Given the description of an element on the screen output the (x, y) to click on. 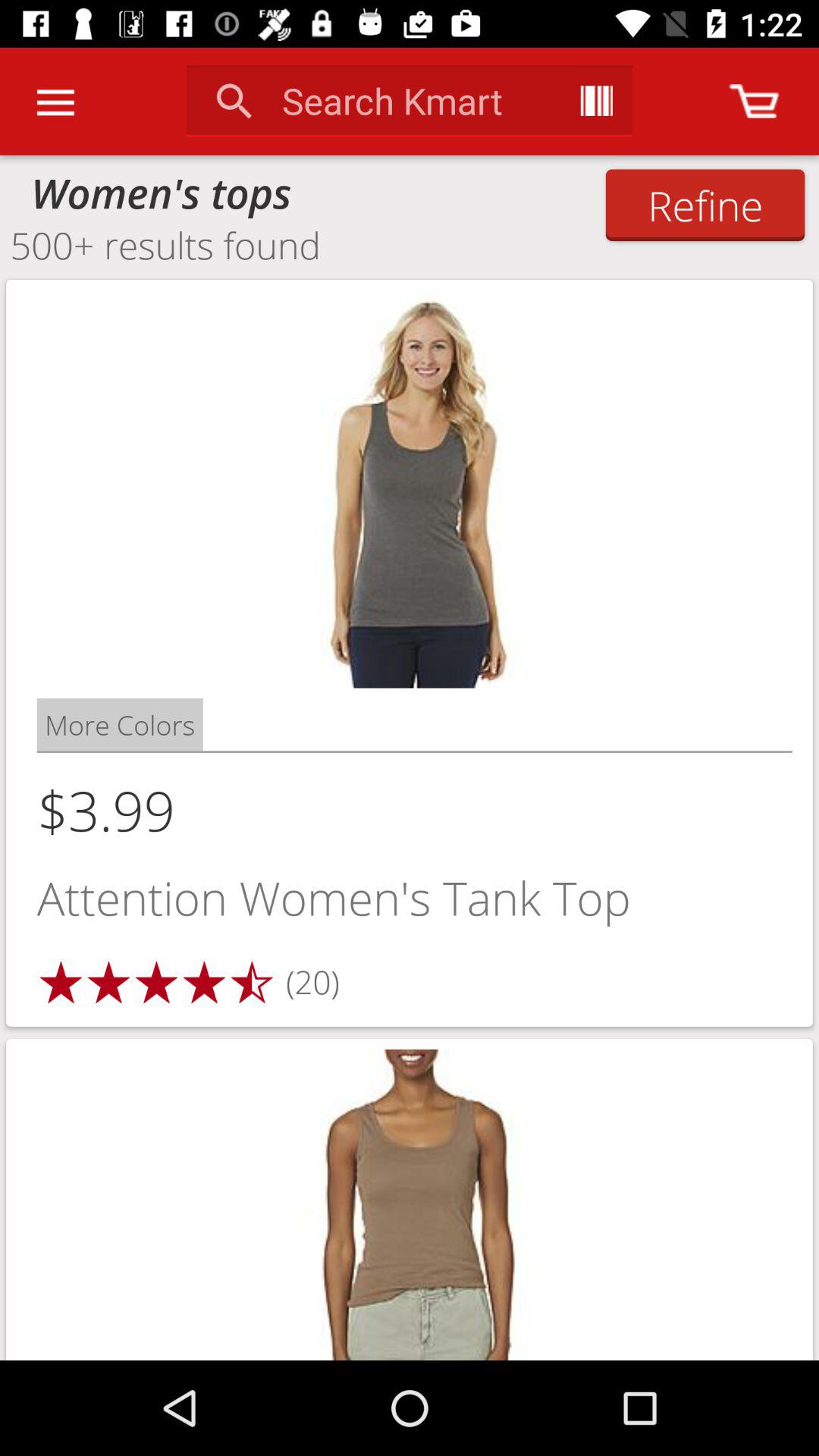
go to shopping cart (754, 101)
